Given the description of an element on the screen output the (x, y) to click on. 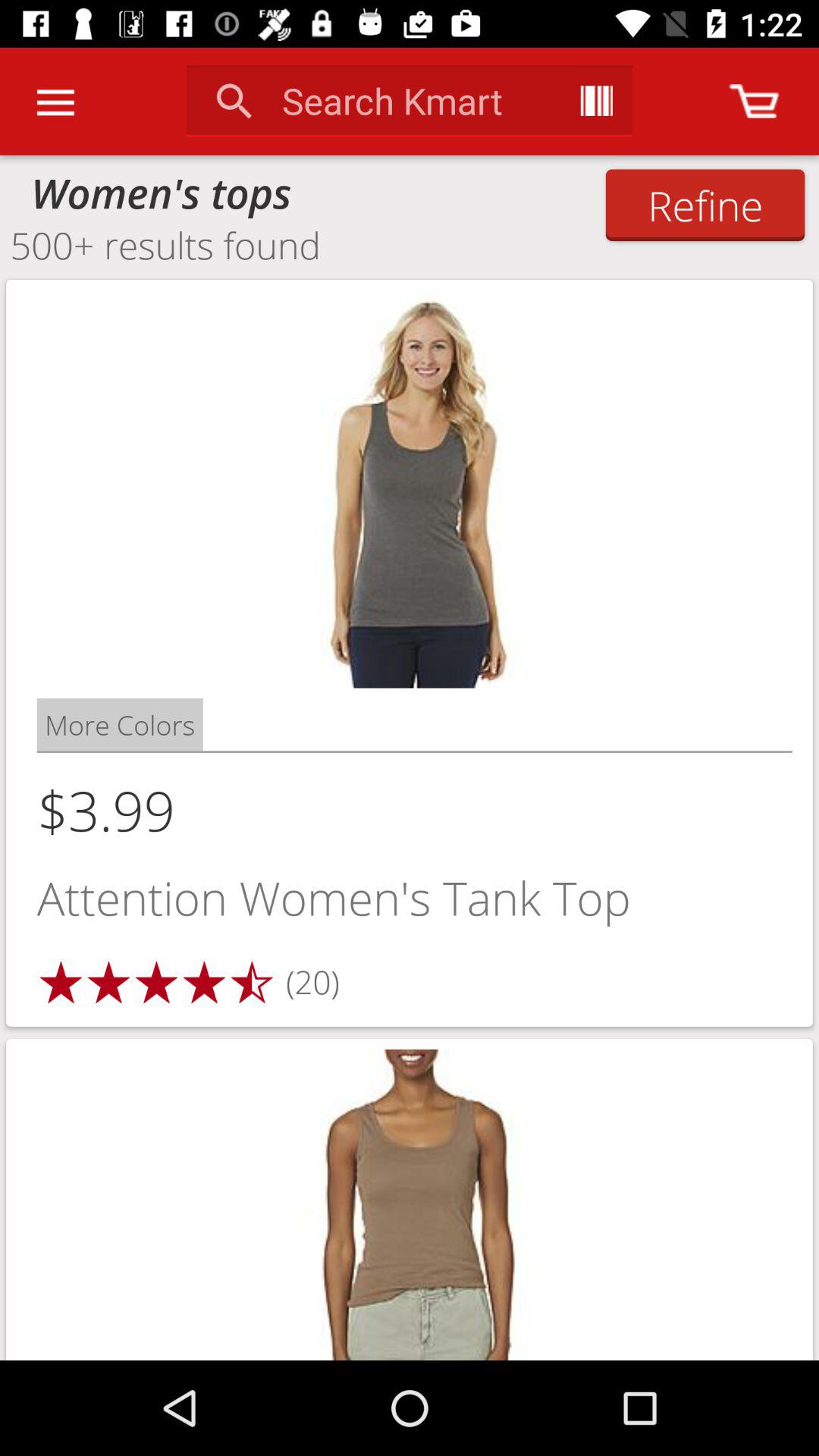
go to shopping cart (754, 101)
